Given the description of an element on the screen output the (x, y) to click on. 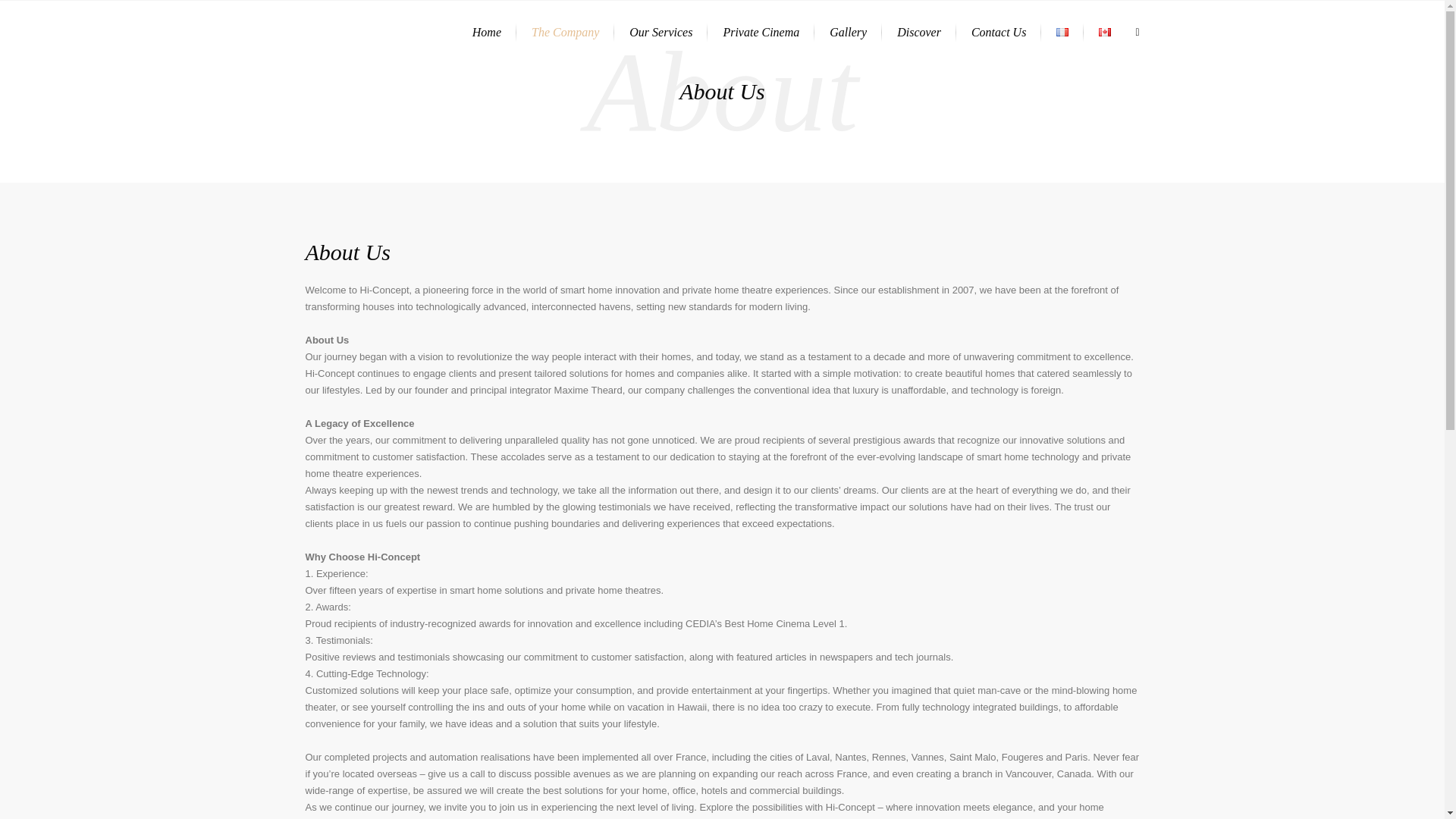
The Company (565, 32)
Gallery (847, 32)
Discover (919, 32)
Home (486, 32)
Private Cinema (760, 32)
Contact Us (998, 32)
Our Services (660, 32)
